Given the description of an element on the screen output the (x, y) to click on. 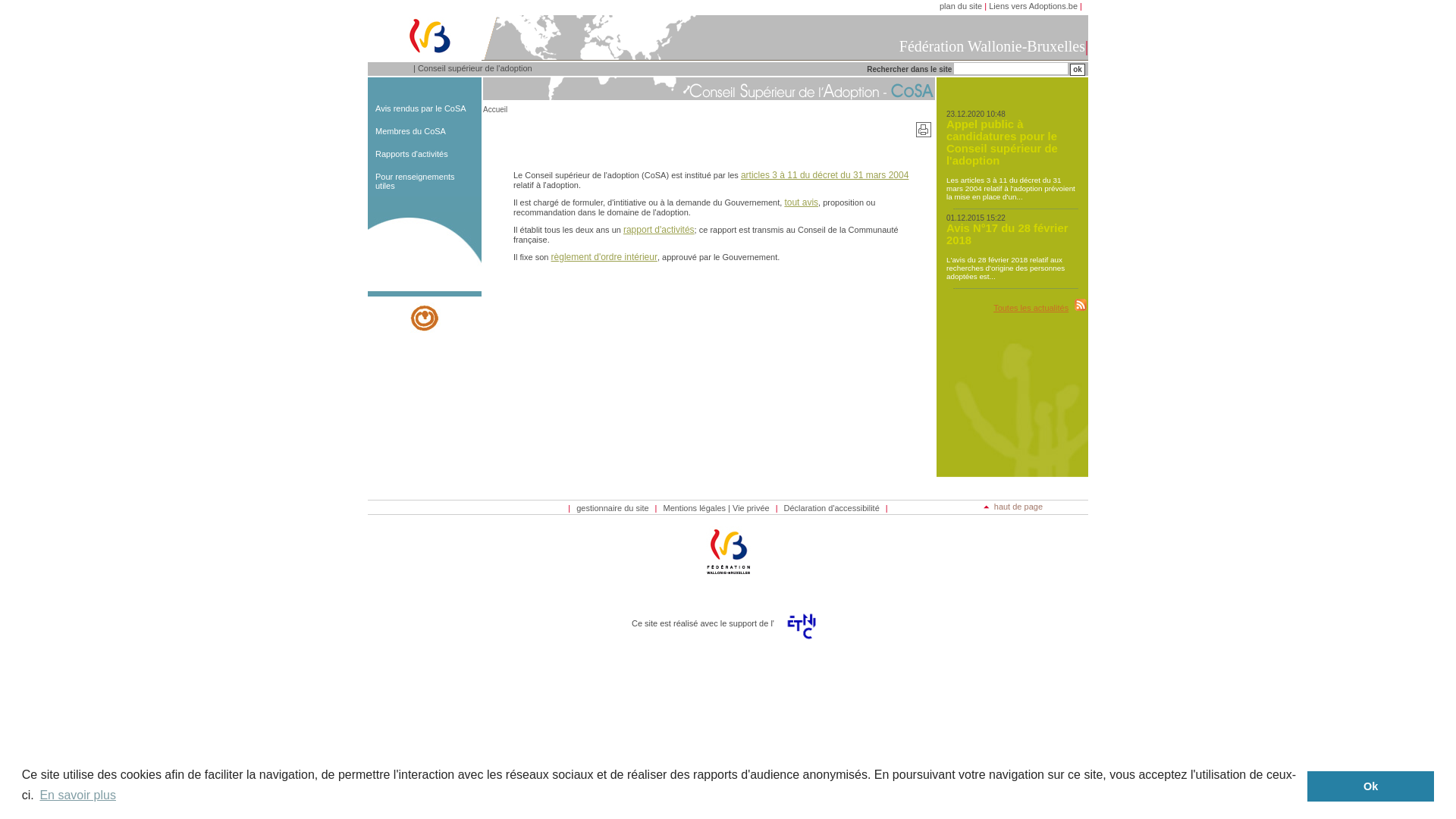
rechercher Element type: hover (1077, 69)
plan du site Element type: text (960, 5)
Ok Element type: text (1370, 786)
  Element type: text (1080, 307)
Liens vers Adoptions.be Element type: text (1032, 5)
fils RSS Element type: hover (1080, 304)
tout avis Element type: text (801, 202)
Membres du CoSA Element type: text (410, 130)
Aller sur le site de l'Etnic Element type: hover (801, 644)
gestionnaire du site Element type: text (612, 507)
Imprimer la page Element type: hover (923, 133)
Imprimer la page Element type: hover (923, 129)
Pour renseignements utiles Element type: text (415, 181)
Avis rendus par le CoSA Element type: text (420, 107)
ok Element type: text (1077, 69)
haut de page Element type: text (1012, 506)
En savoir plus Element type: text (77, 795)
